Given the description of an element on the screen output the (x, y) to click on. 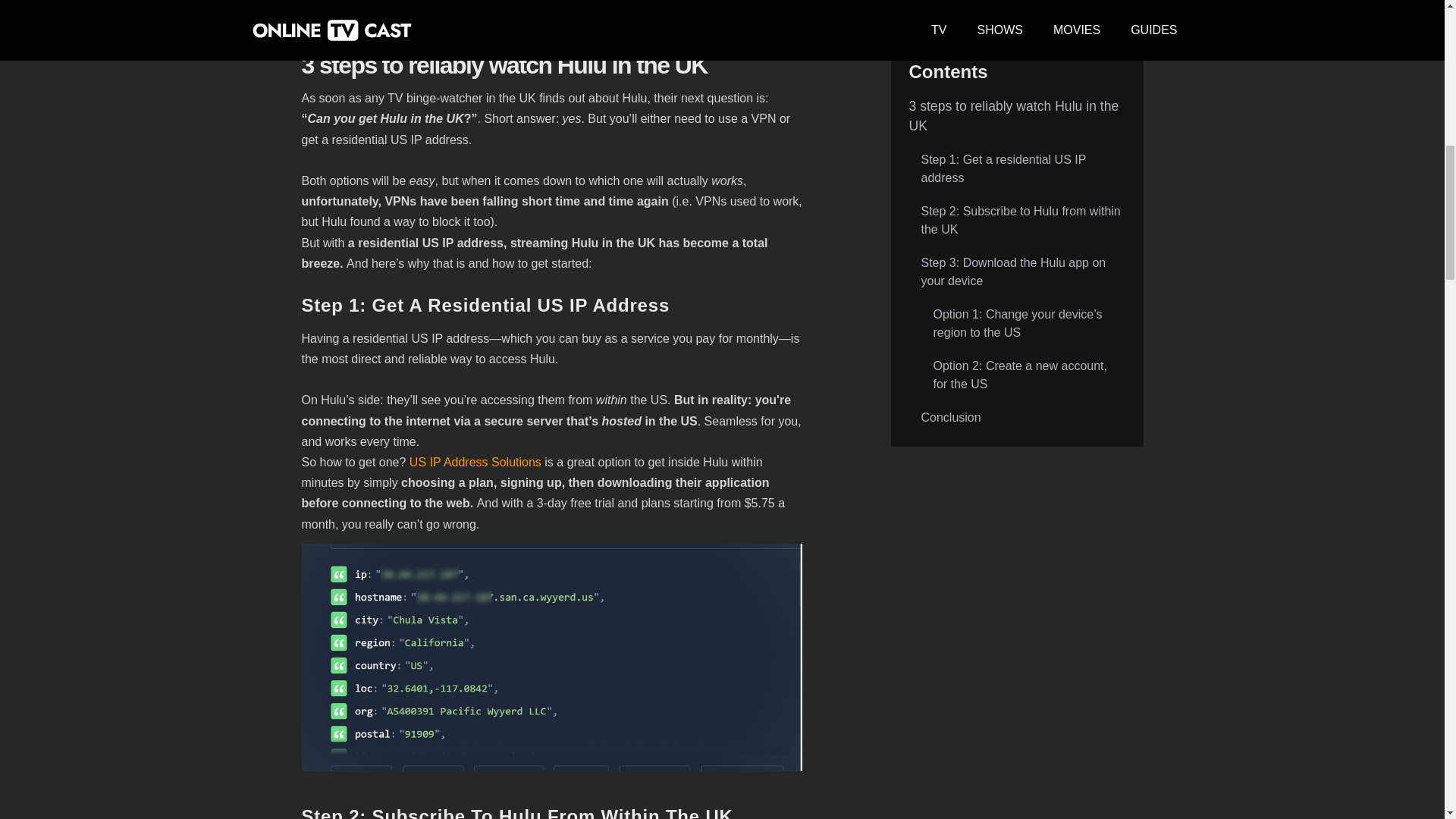
Option 2: Create a new account, for the US (1016, 337)
Step 3: Download the Hulu app on your device (1016, 234)
Step 2: Subscribe to Hulu from within the UK (1016, 182)
3 steps to reliably watch Hulu in the UK (1016, 77)
US IP Address Solutions (475, 462)
Conclusion (1016, 379)
Step 1: Get a residential US IP address (1016, 131)
